Given the description of an element on the screen output the (x, y) to click on. 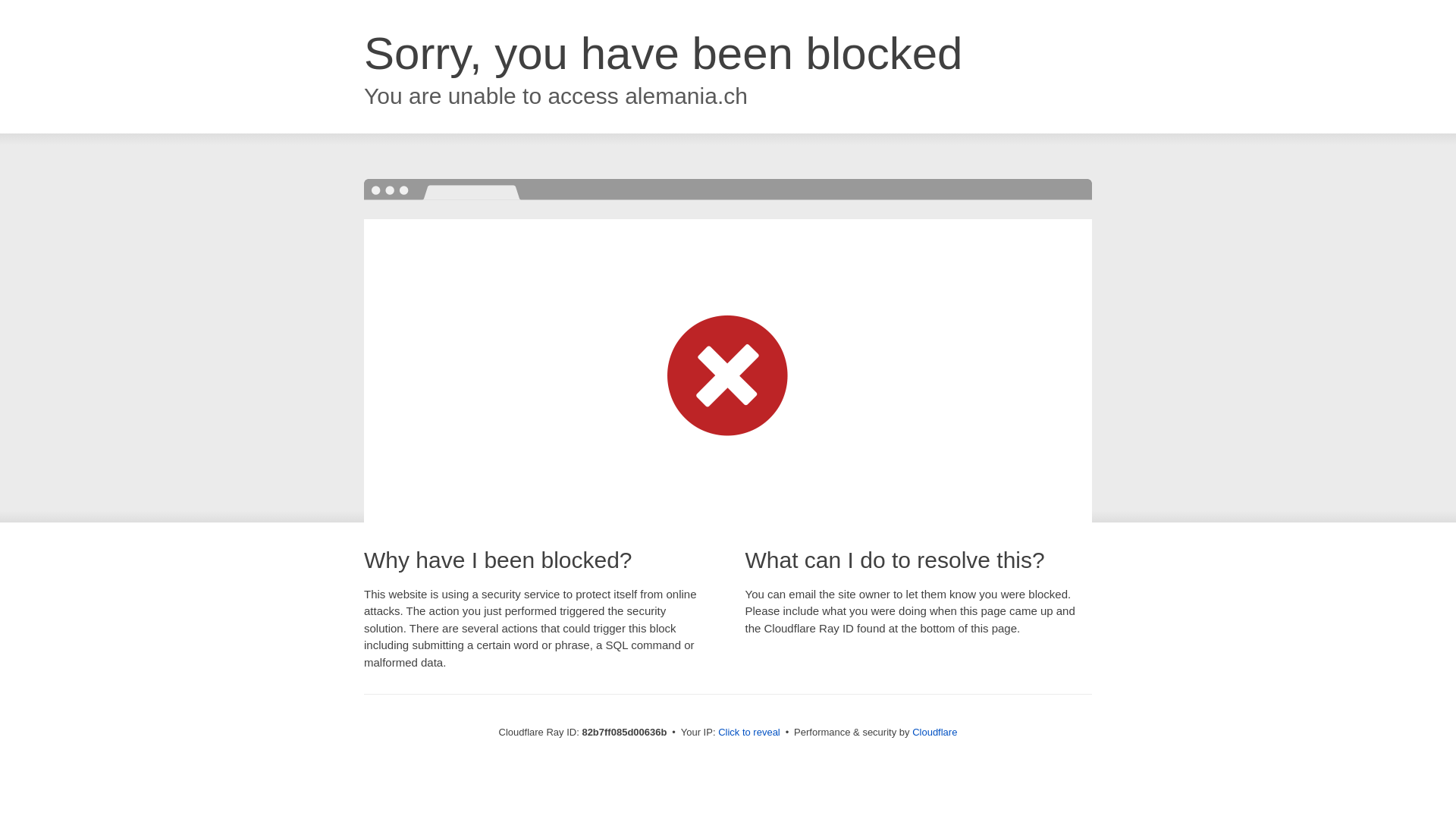
Click to reveal Element type: text (749, 732)
Cloudflare Element type: text (934, 731)
